Given the description of an element on the screen output the (x, y) to click on. 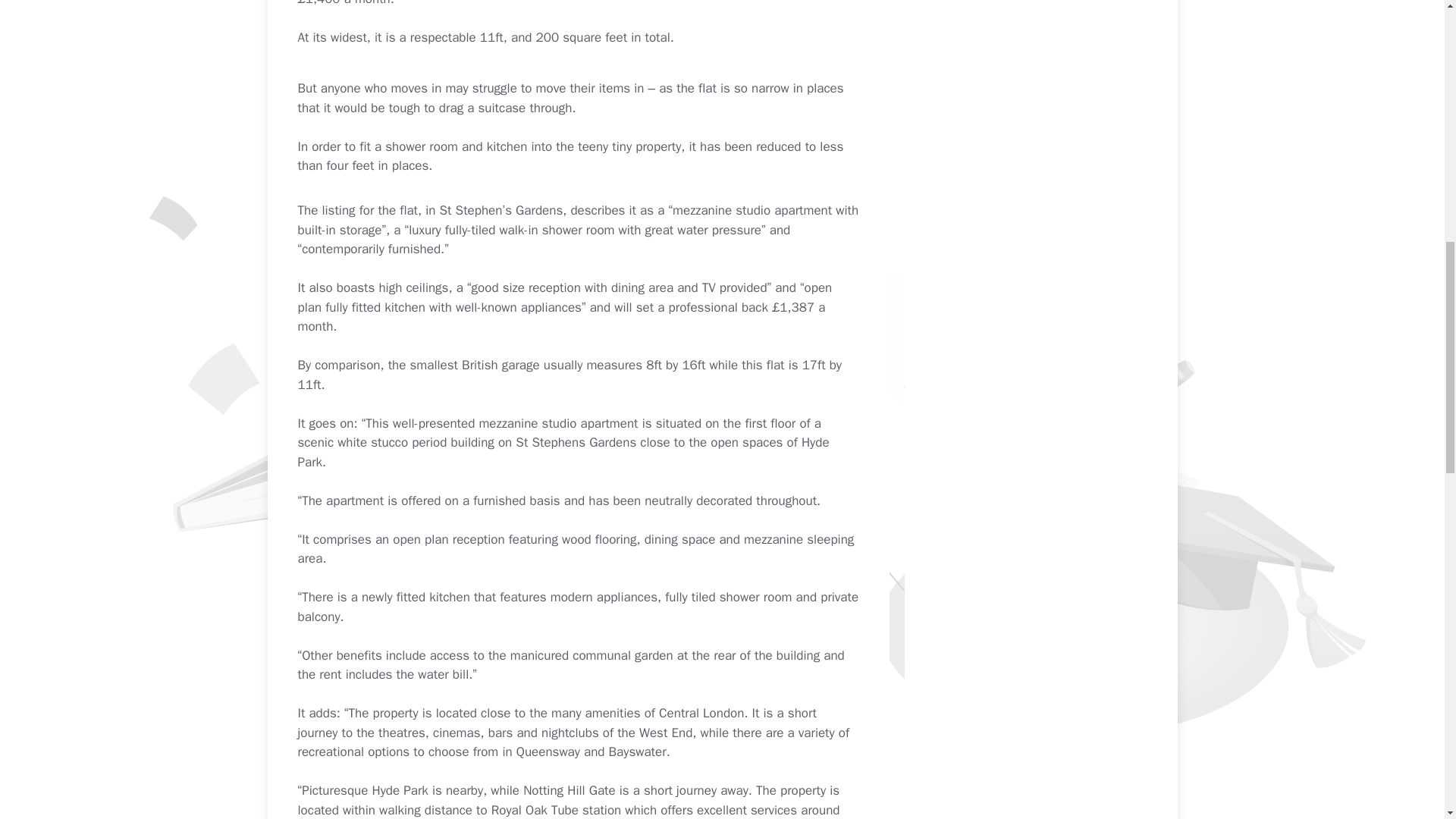
Scroll back to top (1406, 720)
